Given the description of an element on the screen output the (x, y) to click on. 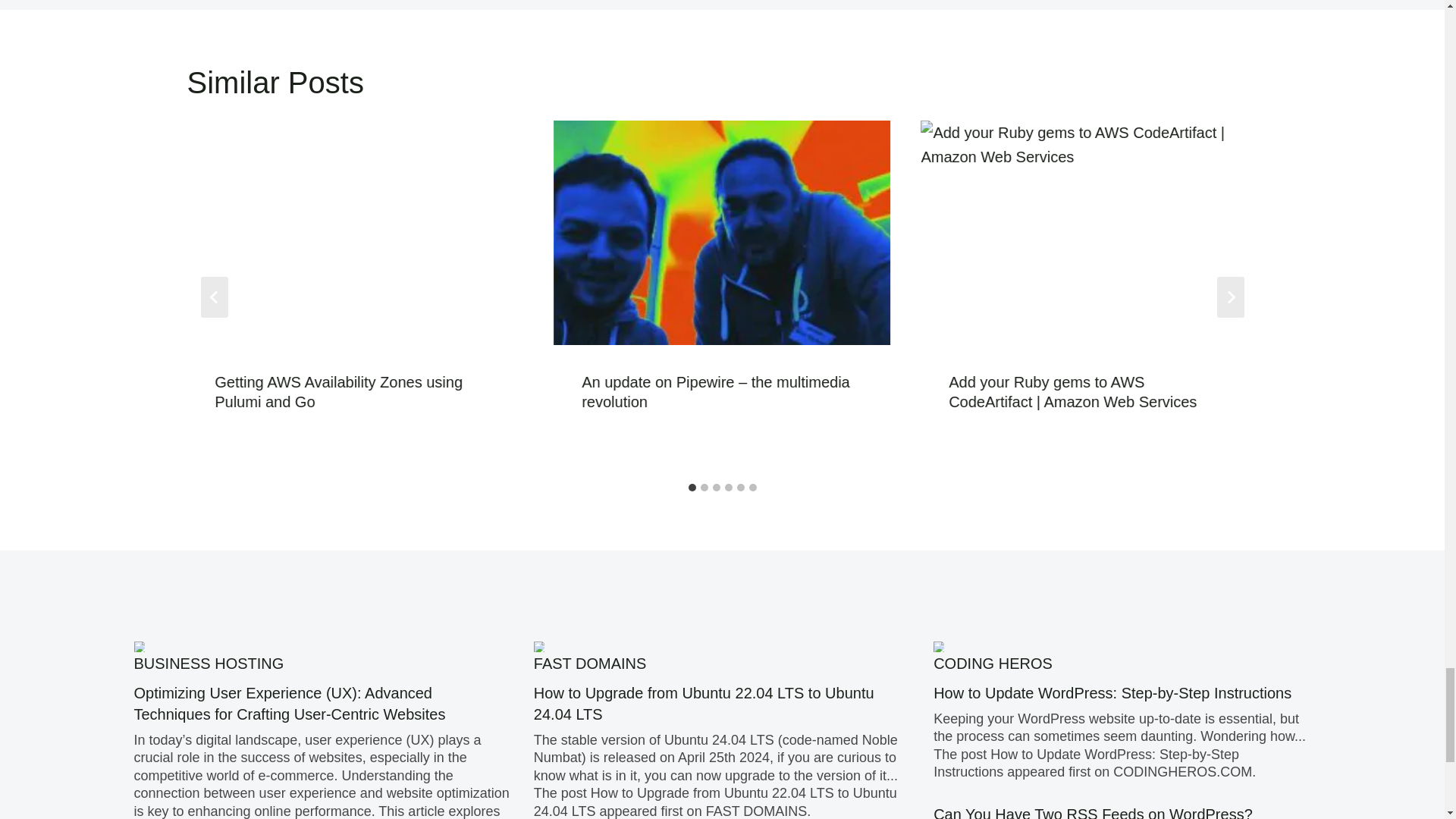
Getting AWS Availability Zones using Pulumi and Go (338, 391)
